Given the description of an element on the screen output the (x, y) to click on. 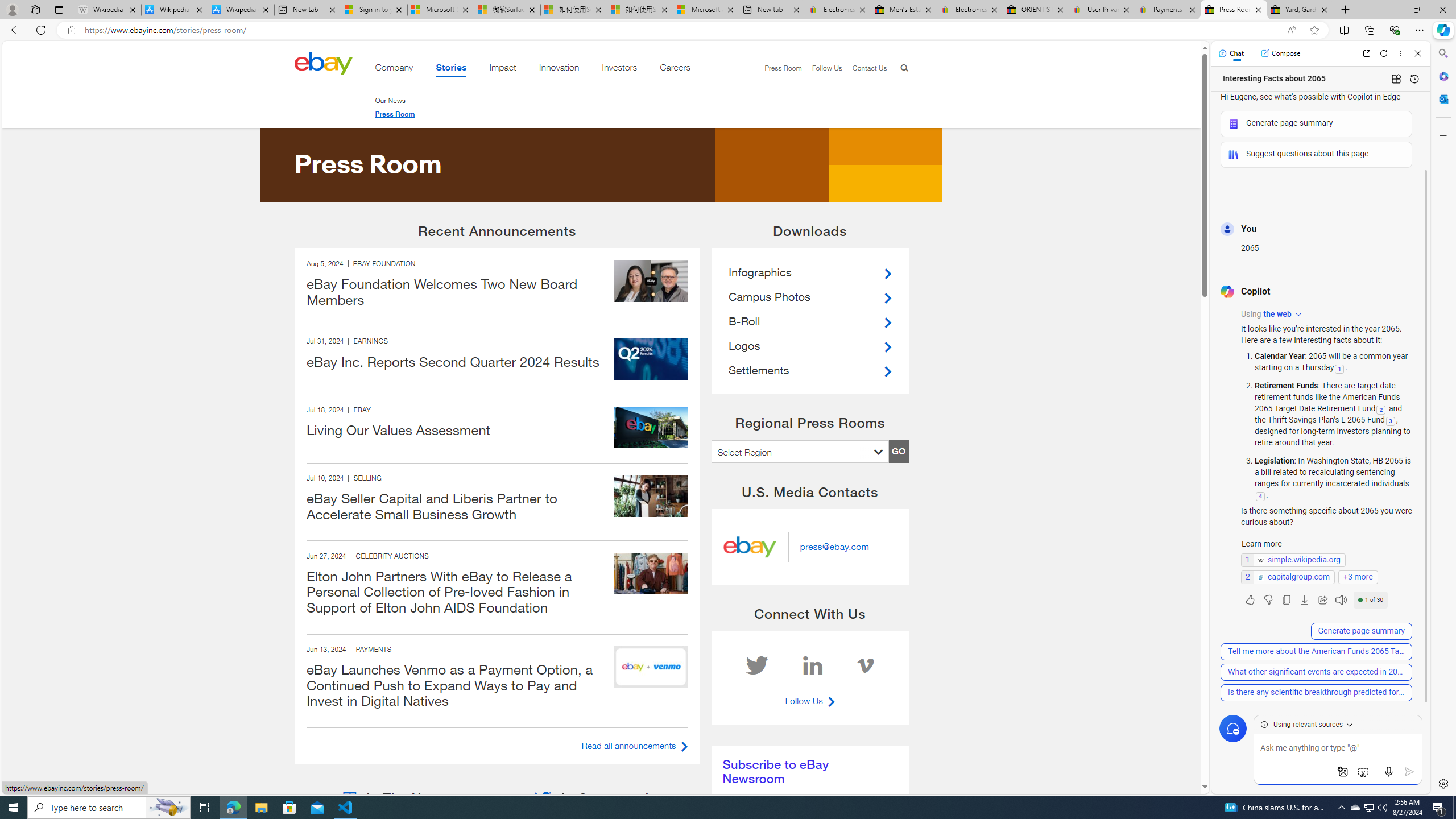
Our News (394, 100)
Company (393, 69)
Contact Us (863, 68)
Company (393, 69)
